Given the description of an element on the screen output the (x, y) to click on. 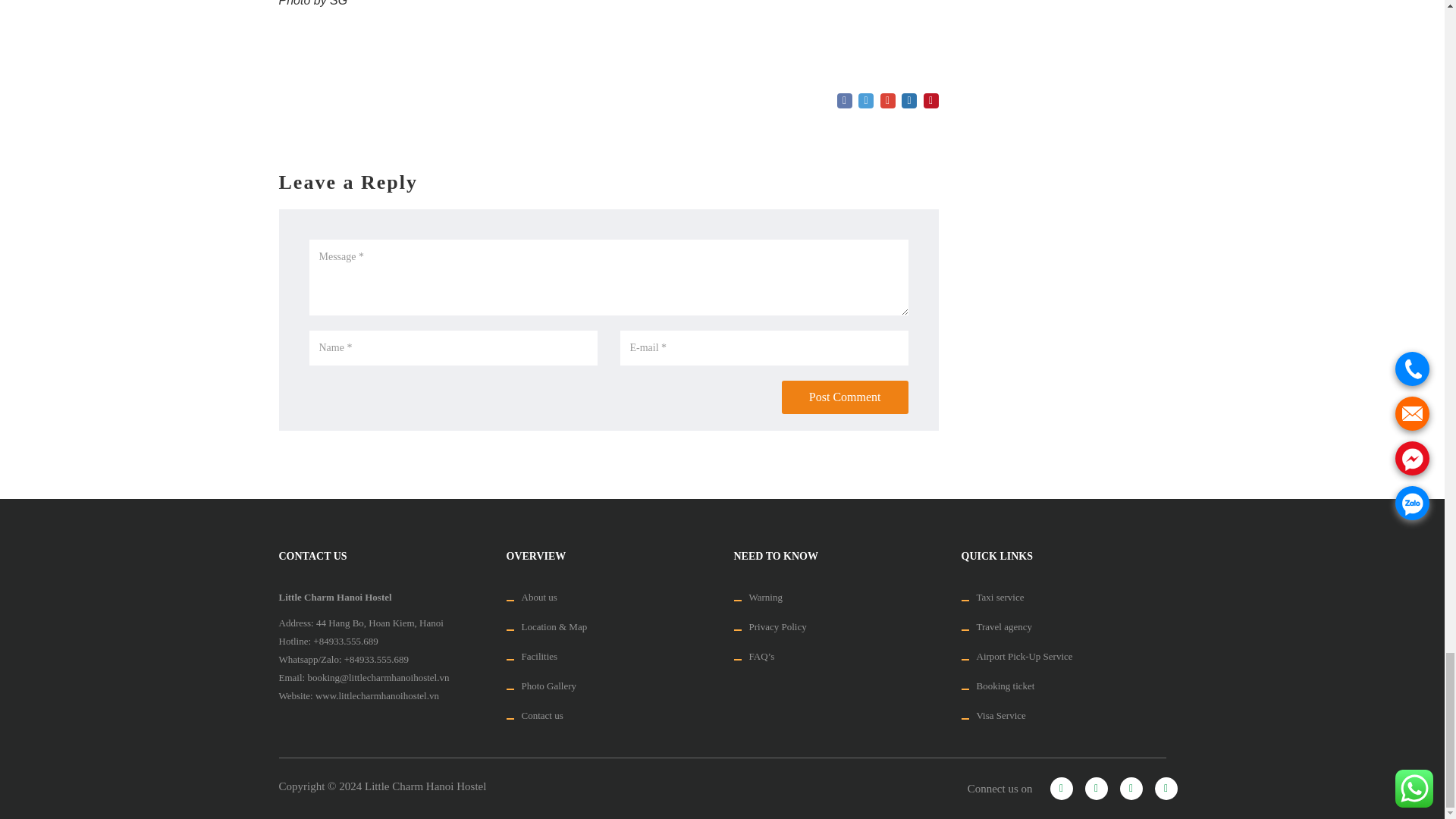
Social item (1060, 788)
Social item (1165, 788)
Social item (1095, 788)
Social item (1130, 788)
